Given the description of an element on the screen output the (x, y) to click on. 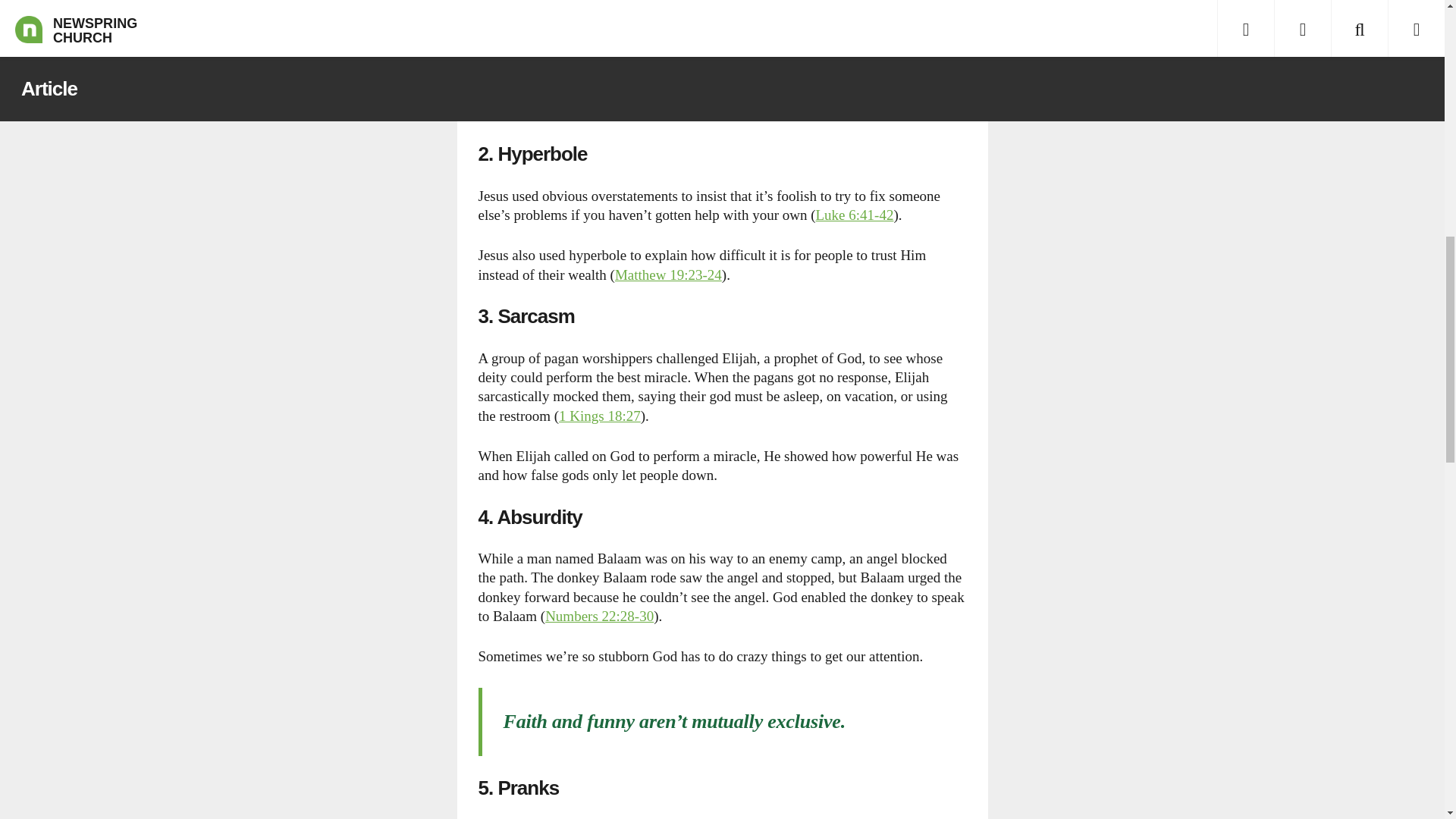
Bible Gateway (598, 616)
1 Kings 18:27 (599, 415)
Bible Gateway (599, 415)
Matthew 19:23-24 (668, 274)
Bible Gateway (854, 214)
Numbers 22:28-30 (598, 616)
Bible Gateway (668, 274)
Luke 6:41-42 (854, 214)
